Given the description of an element on the screen output the (x, y) to click on. 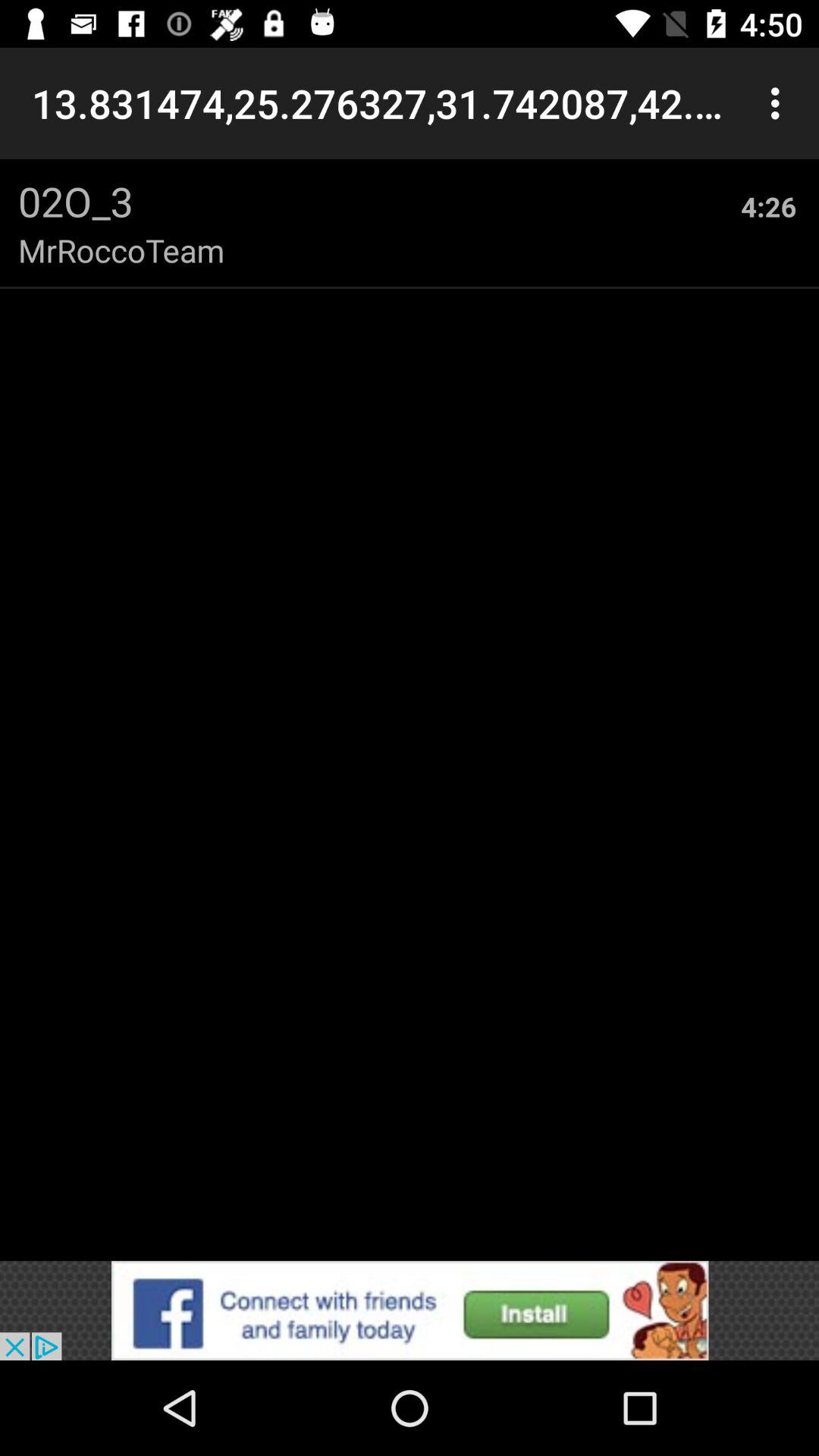
advertisement open option (409, 1310)
